Given the description of an element on the screen output the (x, y) to click on. 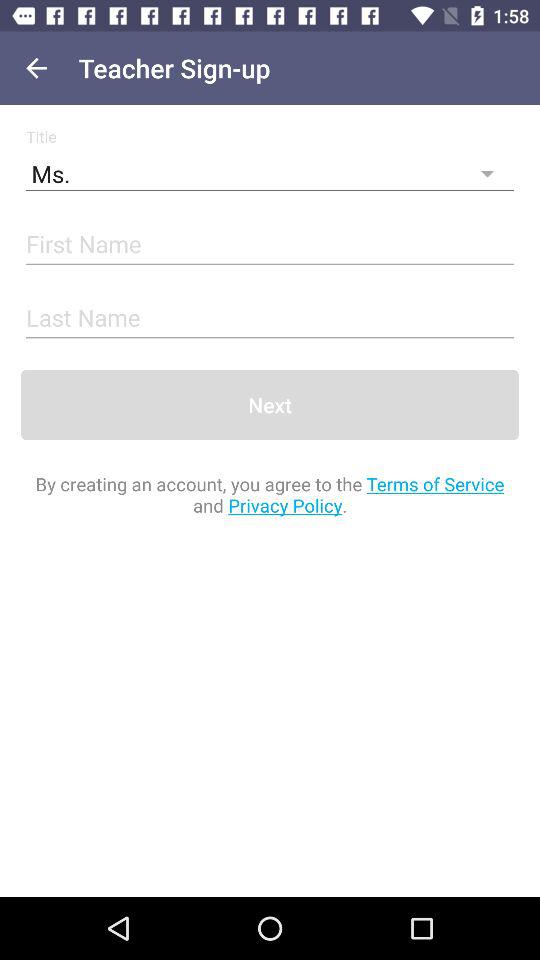
open in facebook id (270, 245)
